Given the description of an element on the screen output the (x, y) to click on. 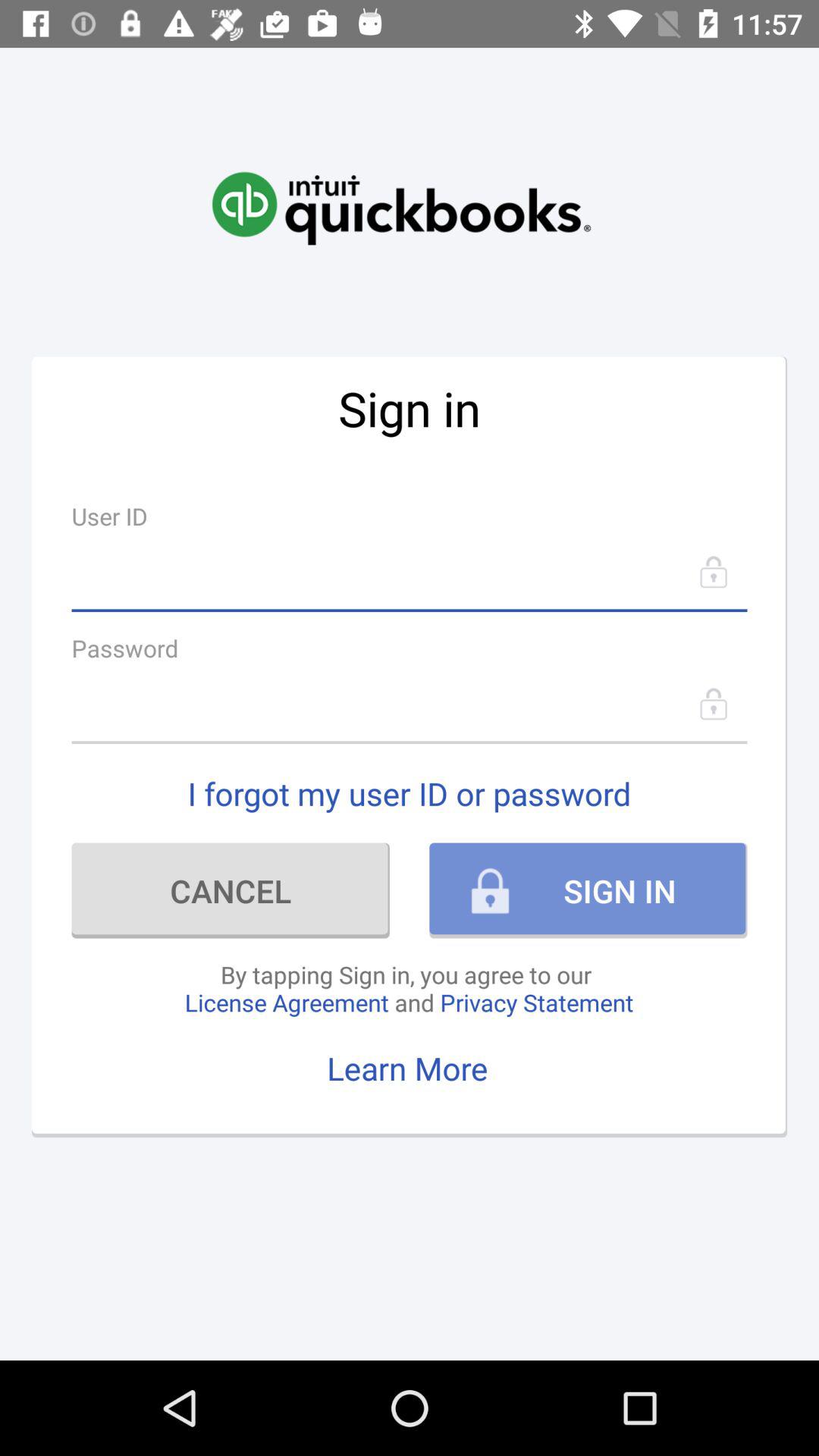
enter user id option (409, 571)
